Given the description of an element on the screen output the (x, y) to click on. 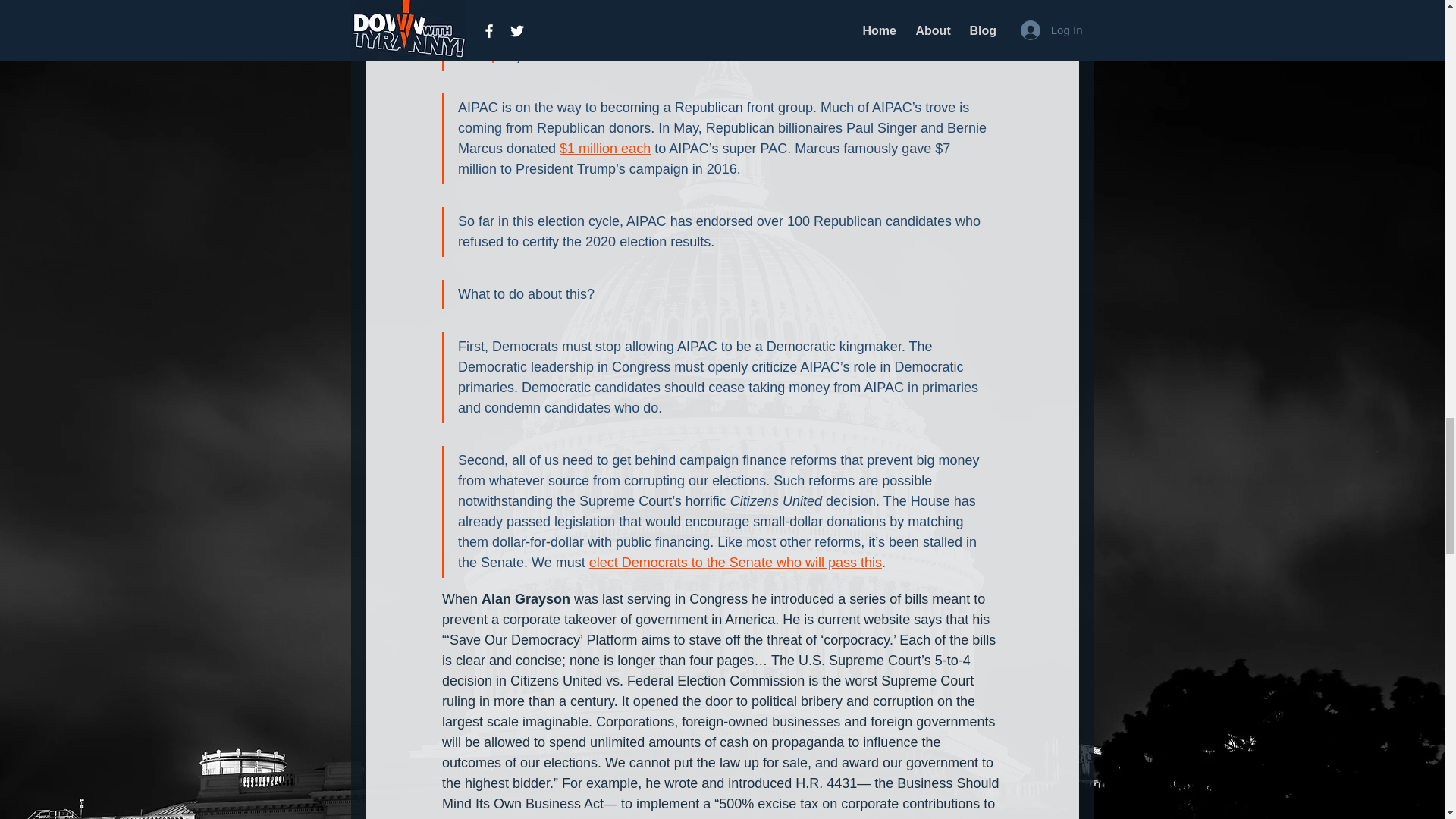
labor champion (546, 45)
history of fighting worker protections (549, 11)
elect Democrats to the Senate who will pass this (734, 562)
